Given the description of an element on the screen output the (x, y) to click on. 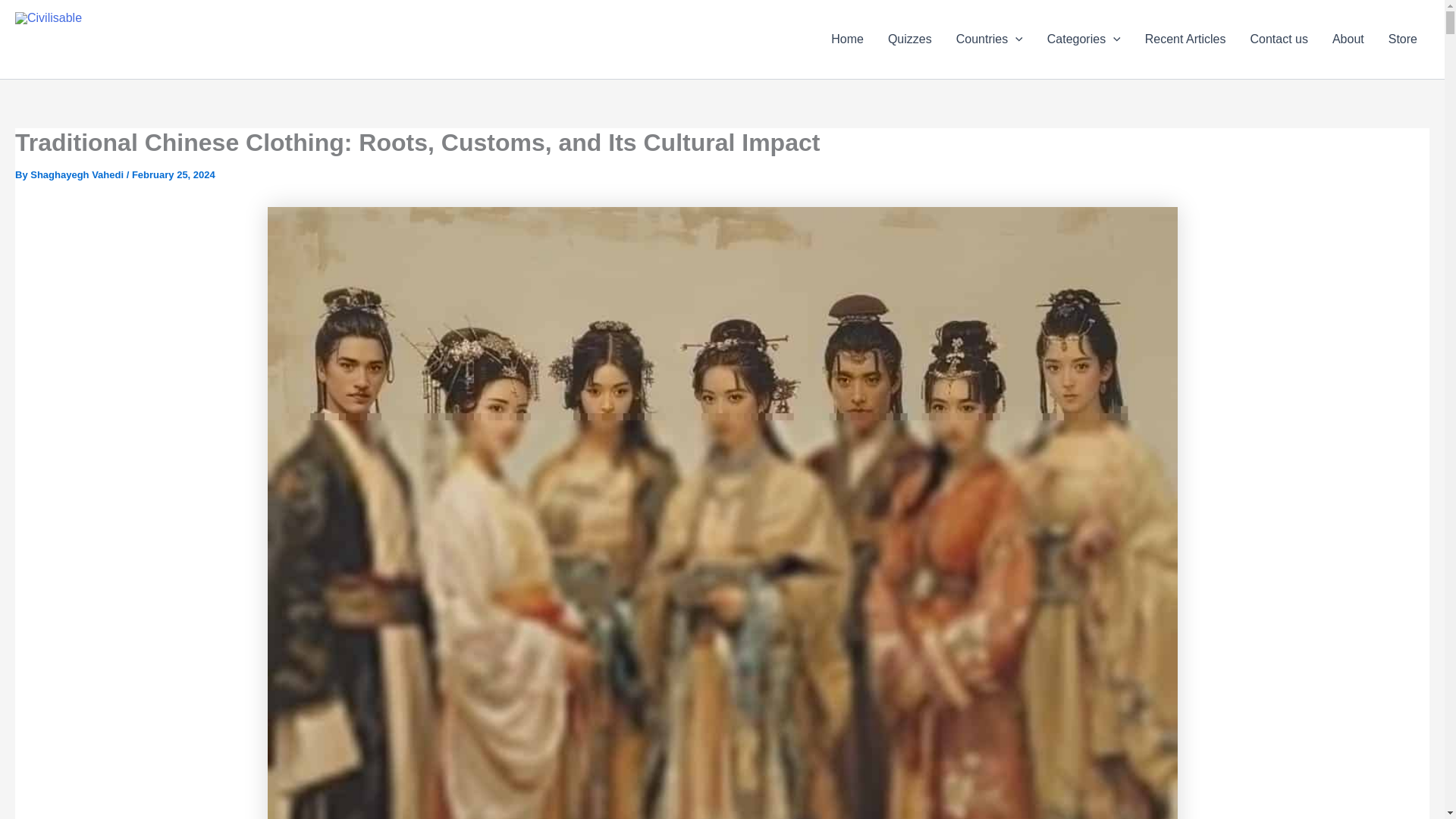
Countries (989, 39)
View all posts by Shaghayegh Vahedi (77, 174)
Quizzes (909, 39)
Home (847, 39)
